Given the description of an element on the screen output the (x, y) to click on. 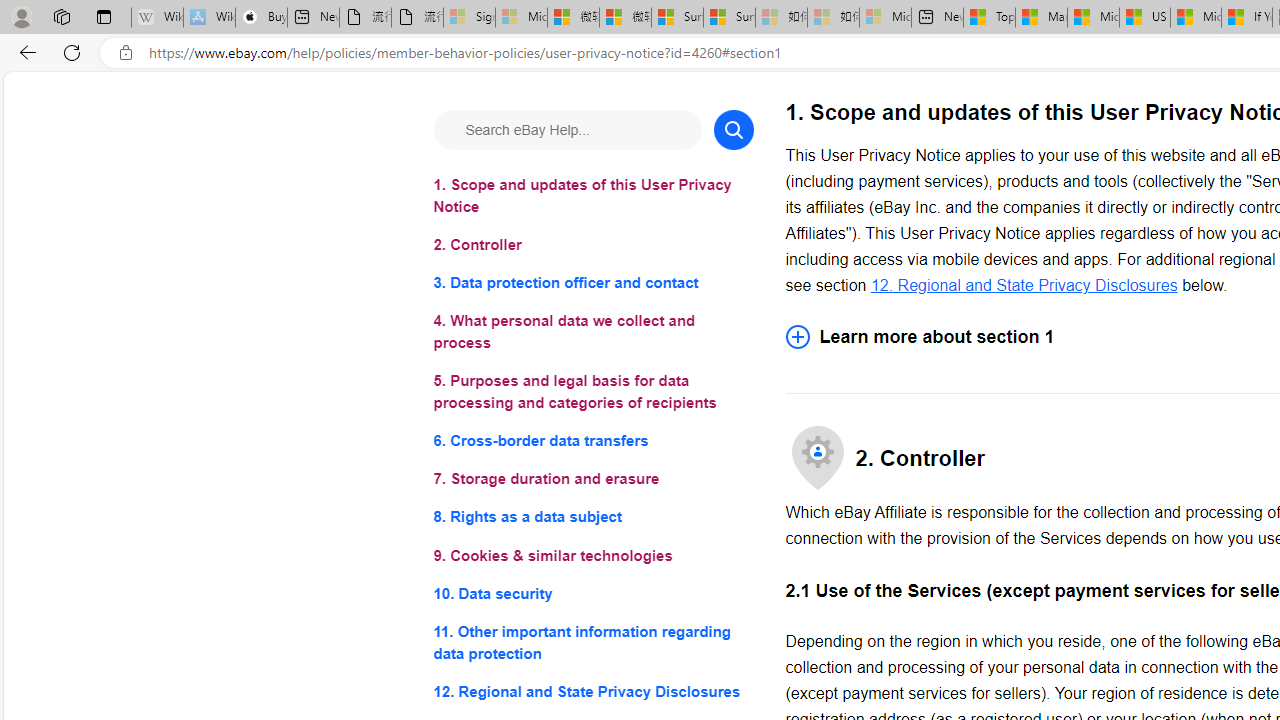
9. Cookies & similar technologies (592, 555)
Search eBay Help... (566, 129)
